Given the description of an element on the screen output the (x, y) to click on. 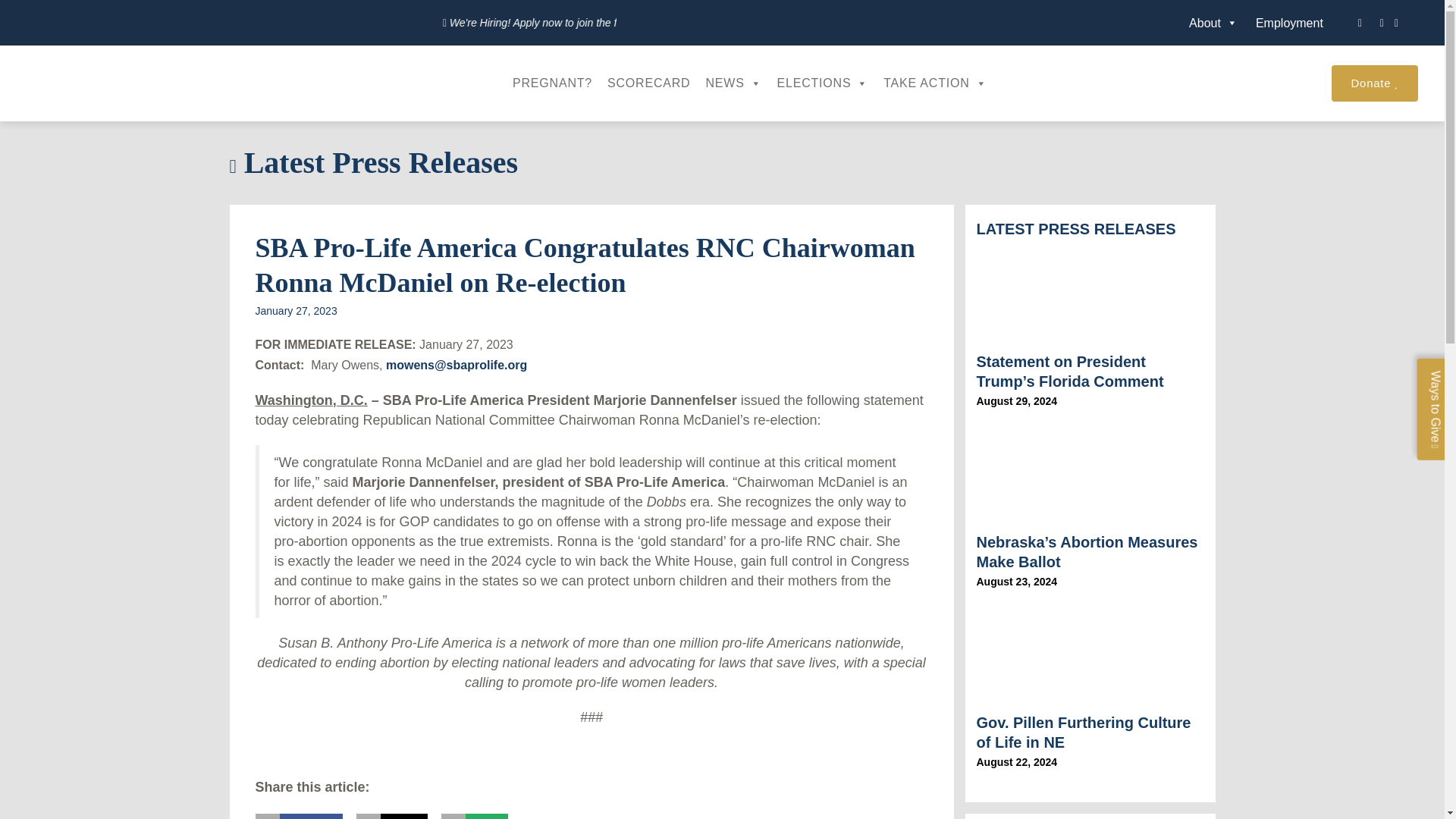
Share on Facebook (298, 816)
Share on X (392, 816)
Send over email (473, 816)
About (1212, 21)
